Given the description of an element on the screen output the (x, y) to click on. 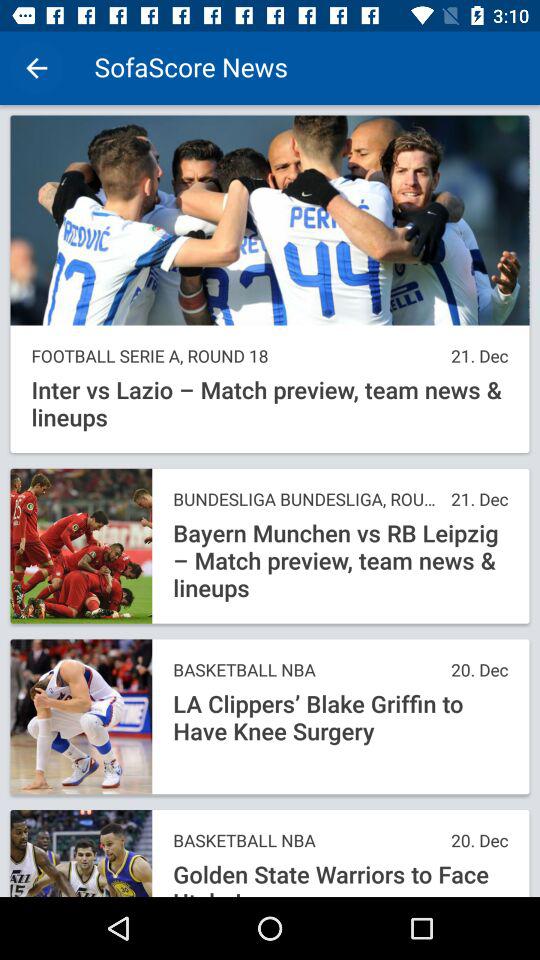
select the item below the football serie a item (269, 404)
